Given the description of an element on the screen output the (x, y) to click on. 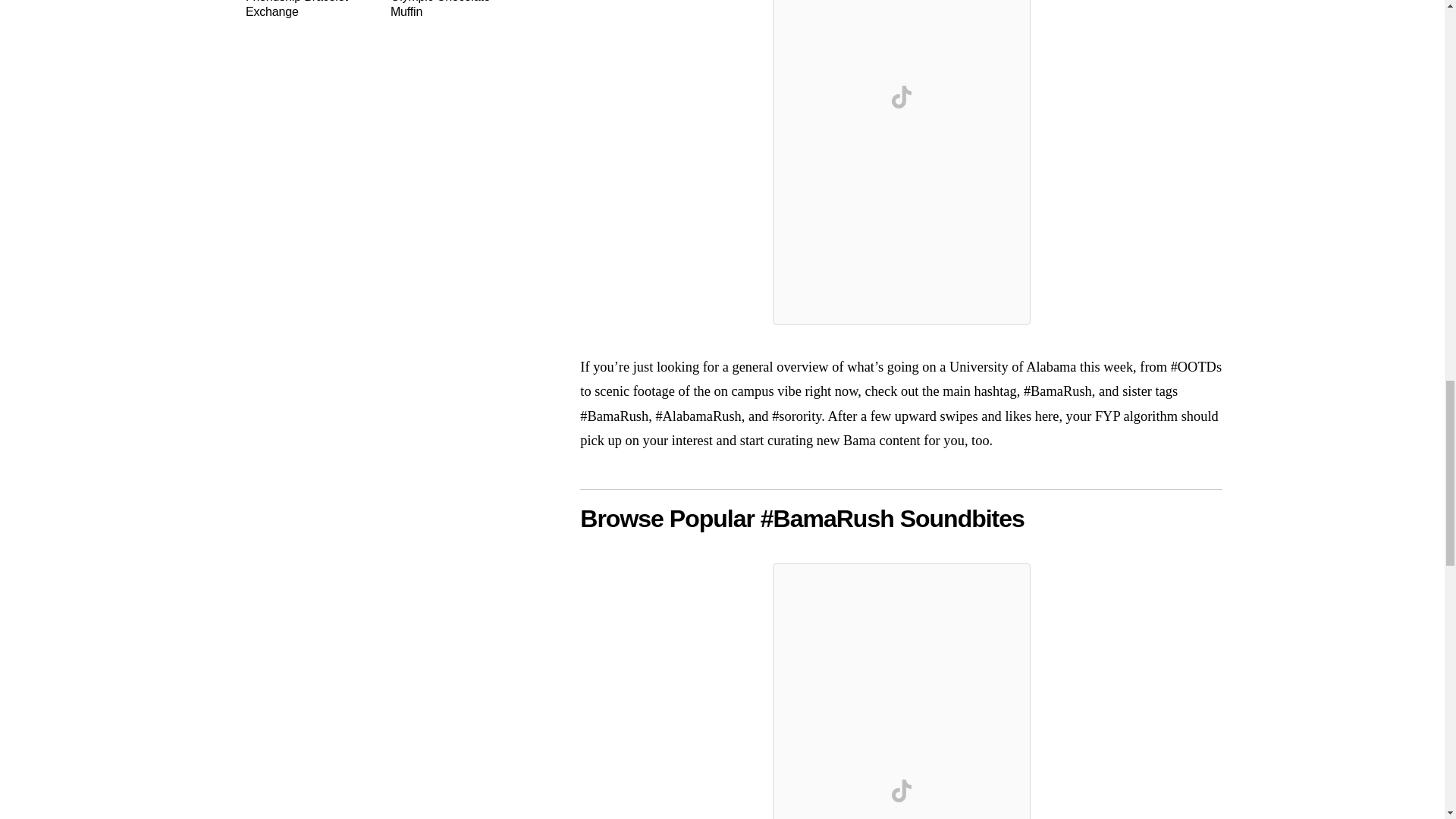
View on TikTok (901, 791)
View on TikTok (901, 96)
